Given the description of an element on the screen output the (x, y) to click on. 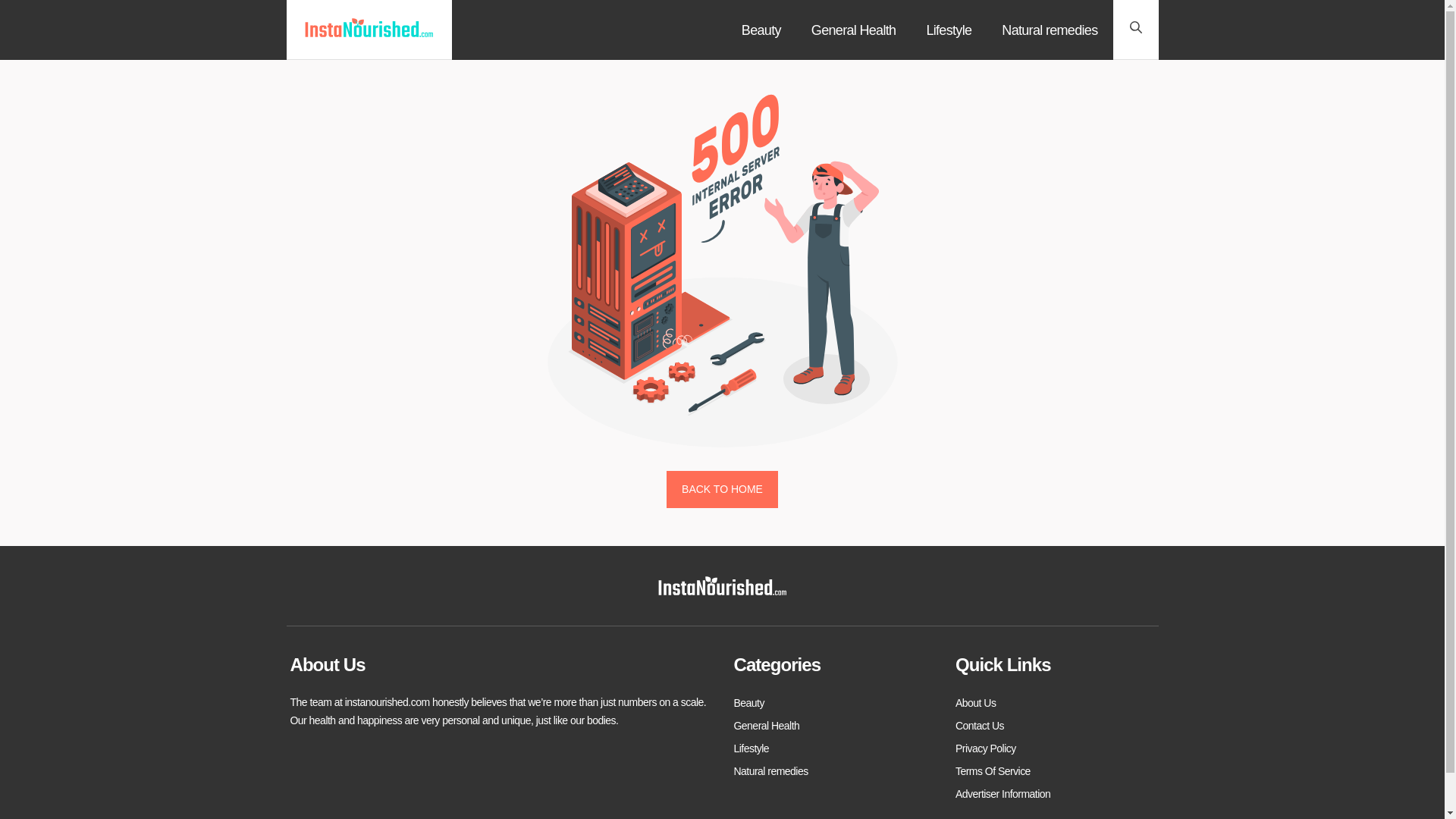
BACK TO HOME (721, 489)
Beauty (760, 29)
Contact Us (979, 725)
Privacy Policy (985, 748)
About Us (975, 702)
Natural remedies (1049, 29)
Beauty (748, 702)
General Health (853, 29)
Lifestyle (948, 29)
Natural remedies (770, 771)
Lifestyle (751, 748)
General Health (766, 725)
Terms Of Service (992, 771)
Advertiser Information (1002, 793)
